Given the description of an element on the screen output the (x, y) to click on. 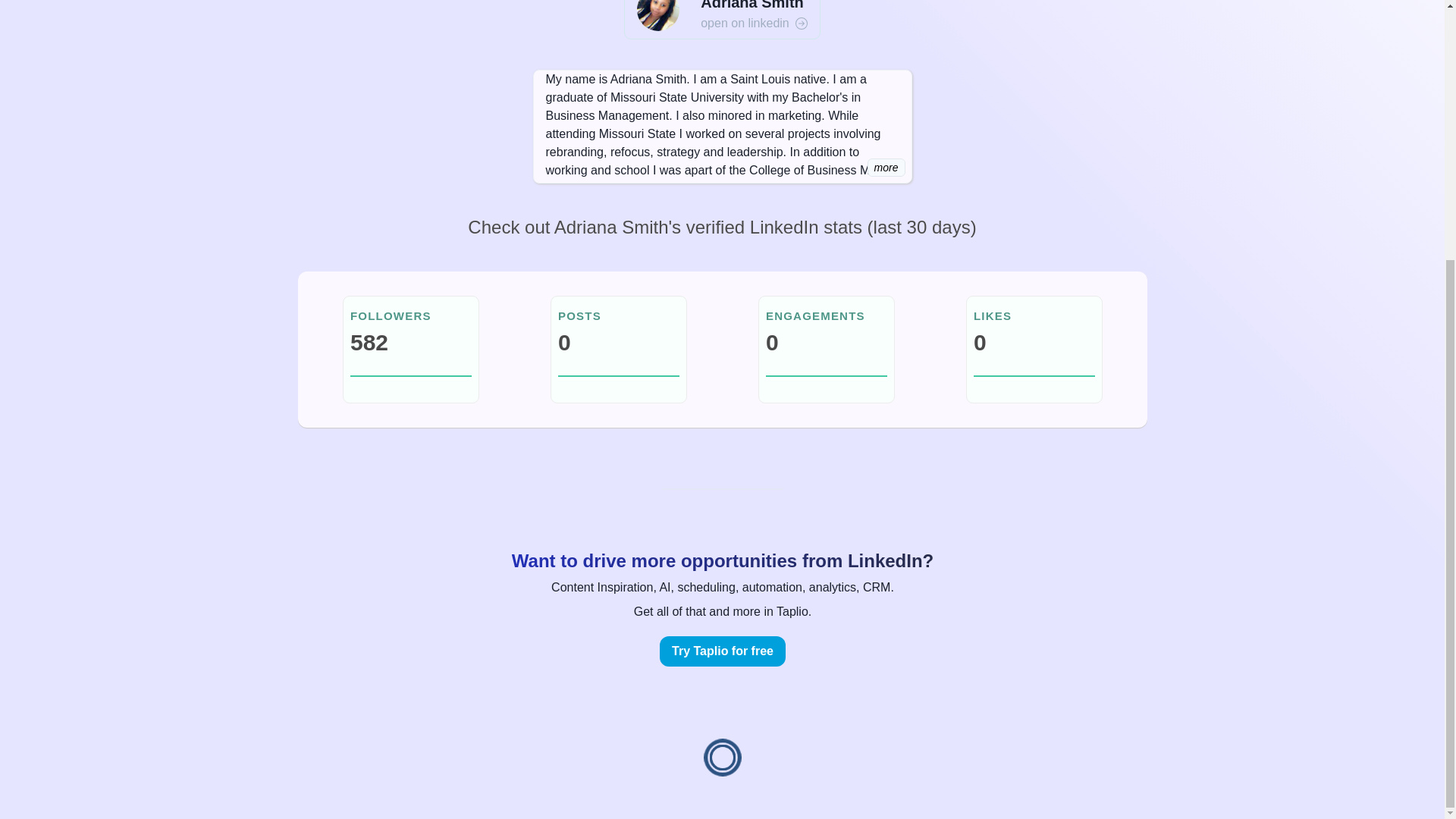
Try Taplio for free (722, 650)
more (886, 167)
open on linkedin (754, 23)
